Given the description of an element on the screen output the (x, y) to click on. 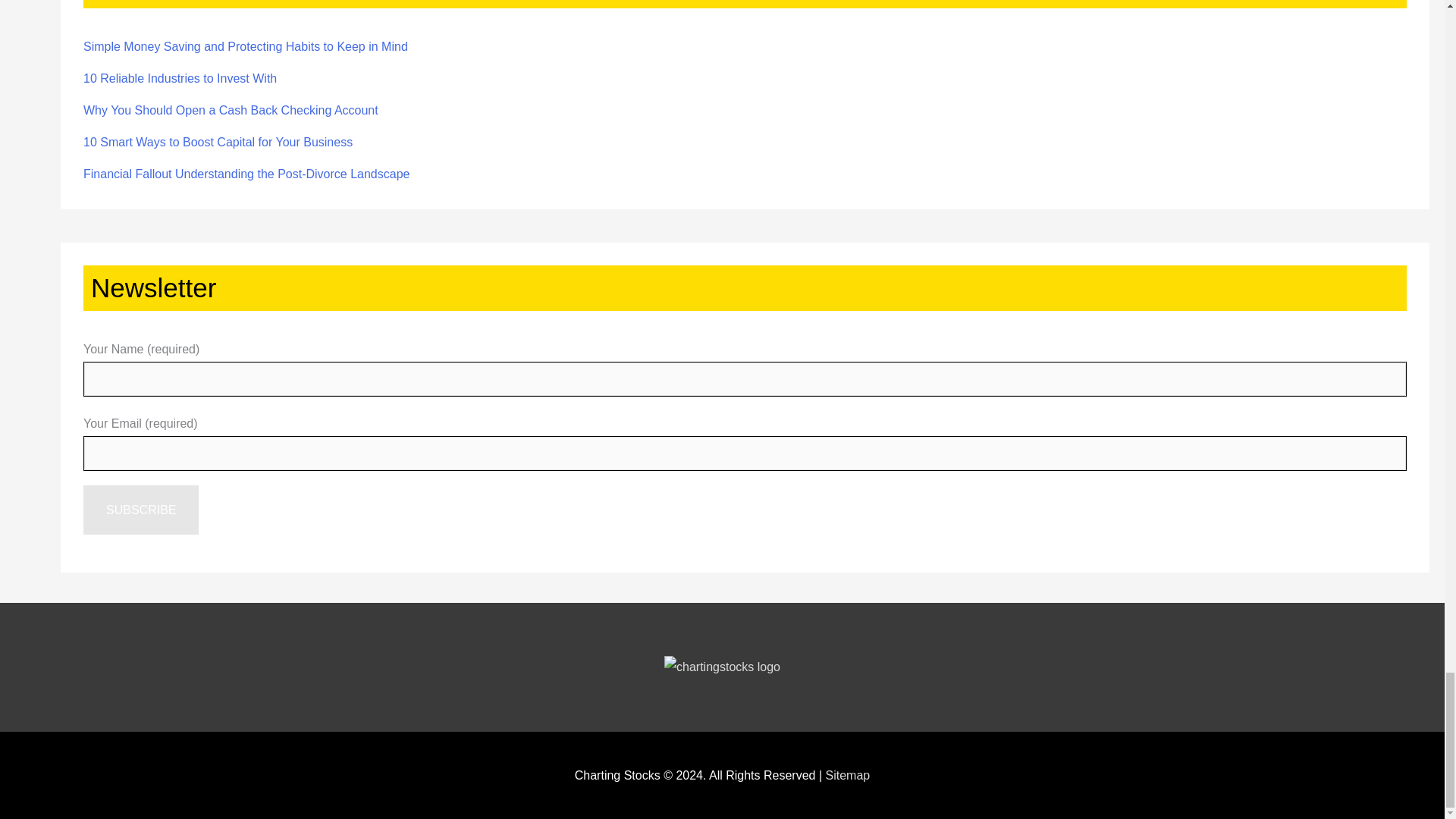
SUBSCRIBE (140, 510)
